Given the description of an element on the screen output the (x, y) to click on. 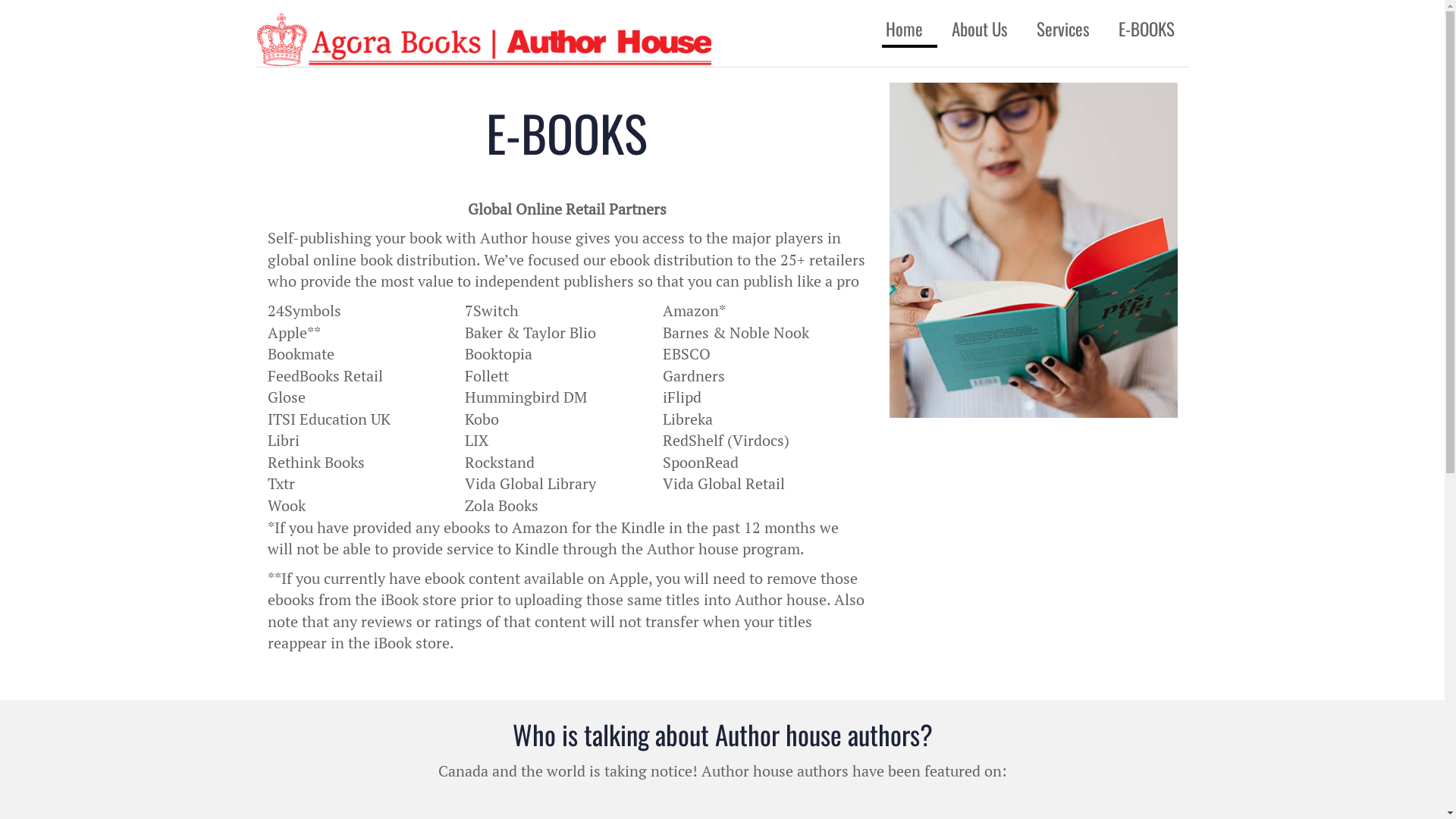
 Home Element type: text (908, 28)
About Us Element type: text (979, 28)
Services Element type: text (1063, 28)
E-BOOKS Element type: text (1146, 28)
